Given the description of an element on the screen output the (x, y) to click on. 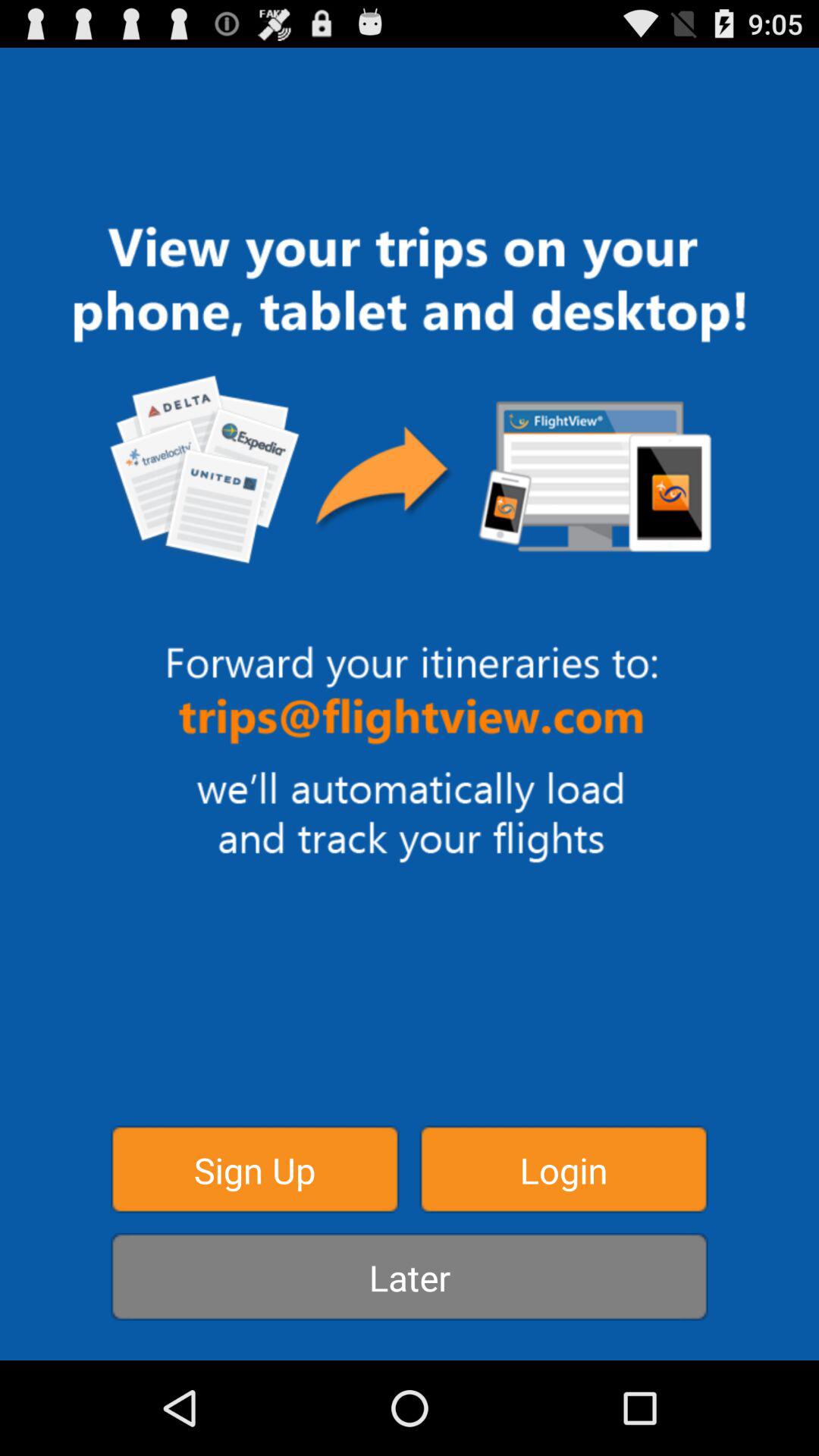
tap button to the right of the sign up (563, 1169)
